Given the description of an element on the screen output the (x, y) to click on. 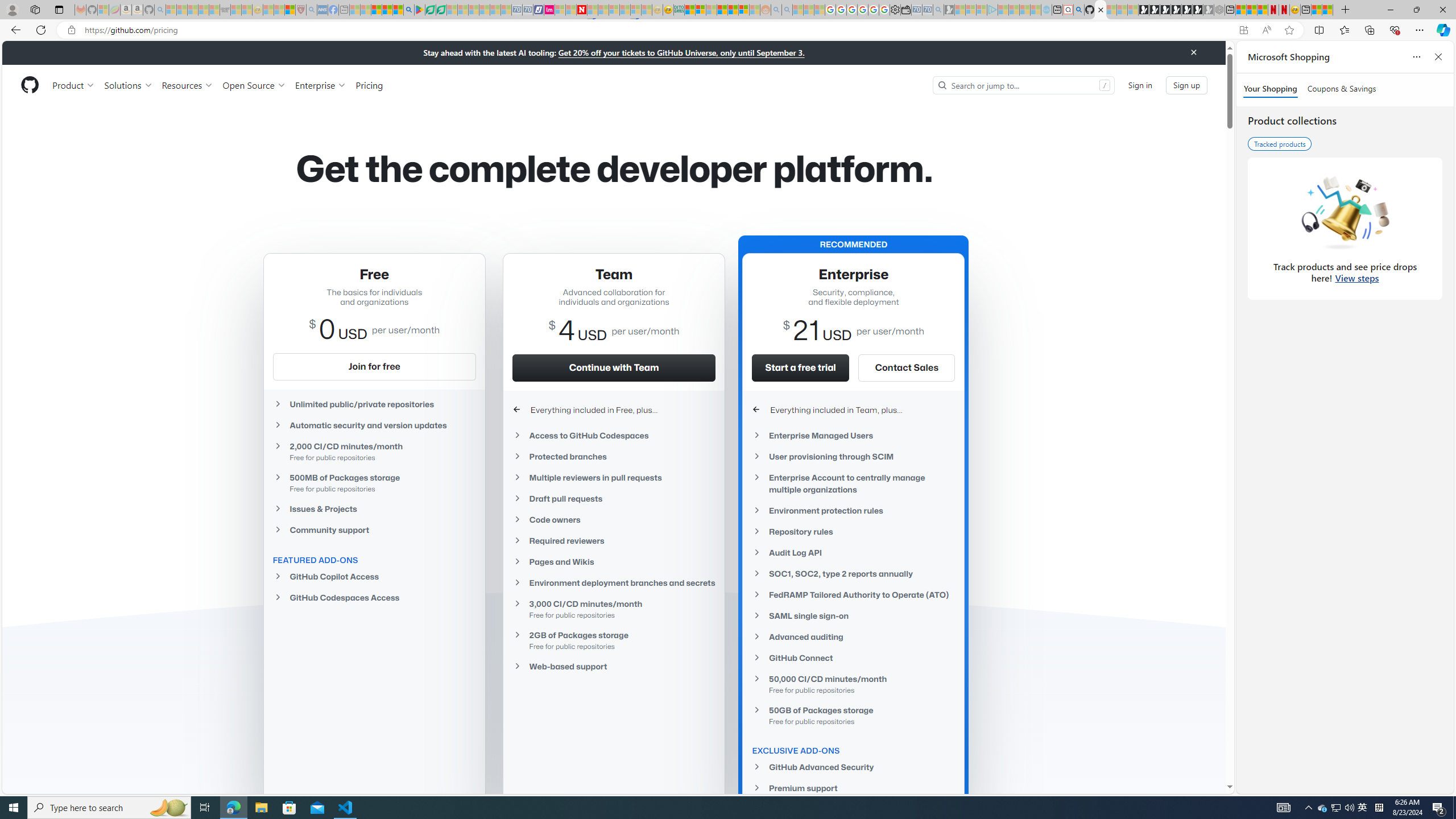
2,000 CI/CD minutes/month Free for public repositories (374, 451)
Environment protection rules (853, 510)
User provisioning through SCIM (853, 456)
Audit Log API (853, 552)
Advanced auditing (853, 636)
Multiple reviewers in pull requests (614, 477)
Everything included in Team, plus... (853, 409)
Start a free trial (799, 367)
